Given the description of an element on the screen output the (x, y) to click on. 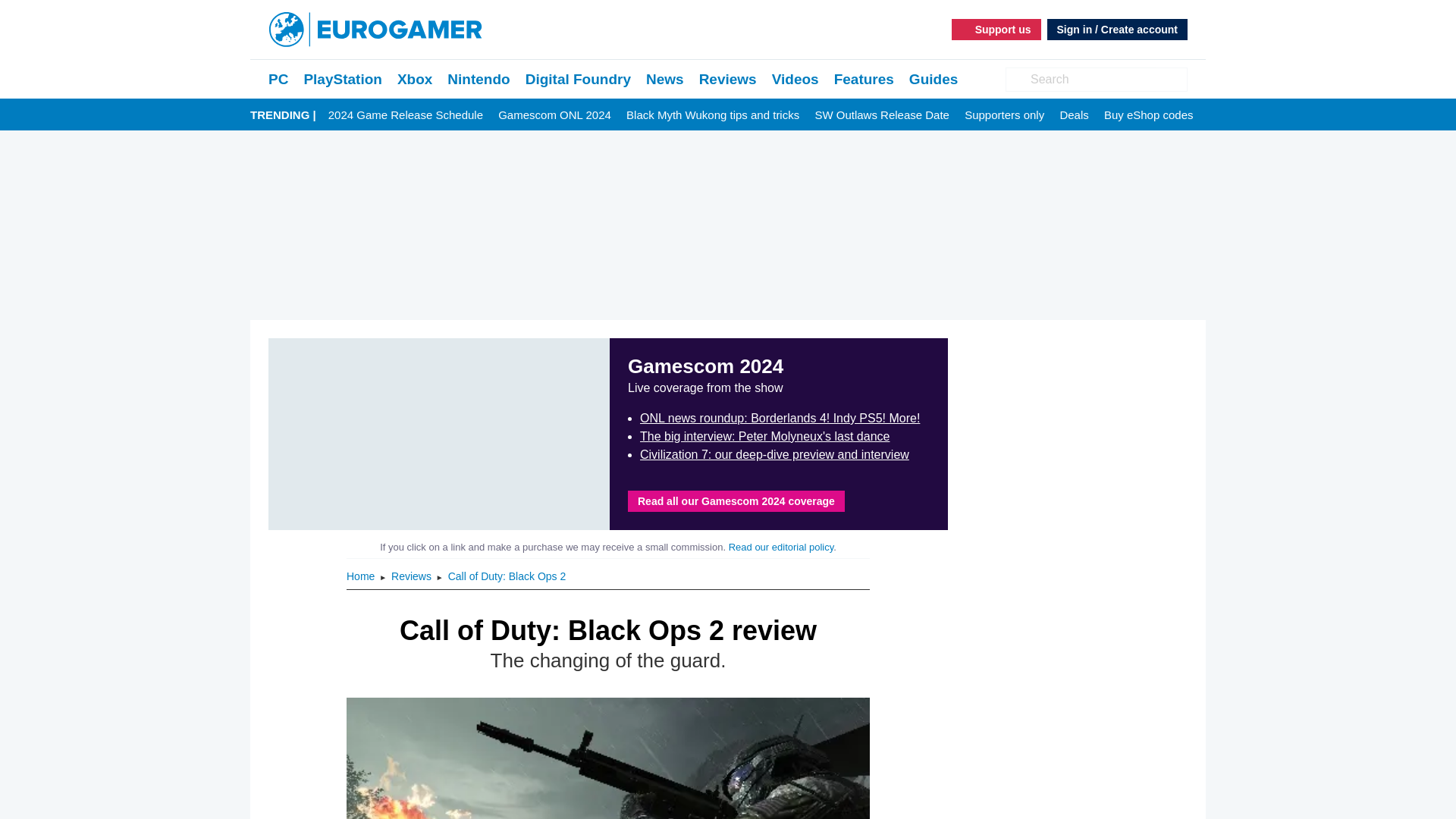
PlayStation (341, 78)
Digital Foundry (577, 78)
Supporters only (1003, 114)
Deals (1073, 114)
Home (361, 576)
Guides (933, 78)
Nintendo (477, 78)
Reviews (412, 576)
Features (863, 78)
Civilization 7: our deep-dive preview and interview (774, 454)
